Given the description of an element on the screen output the (x, y) to click on. 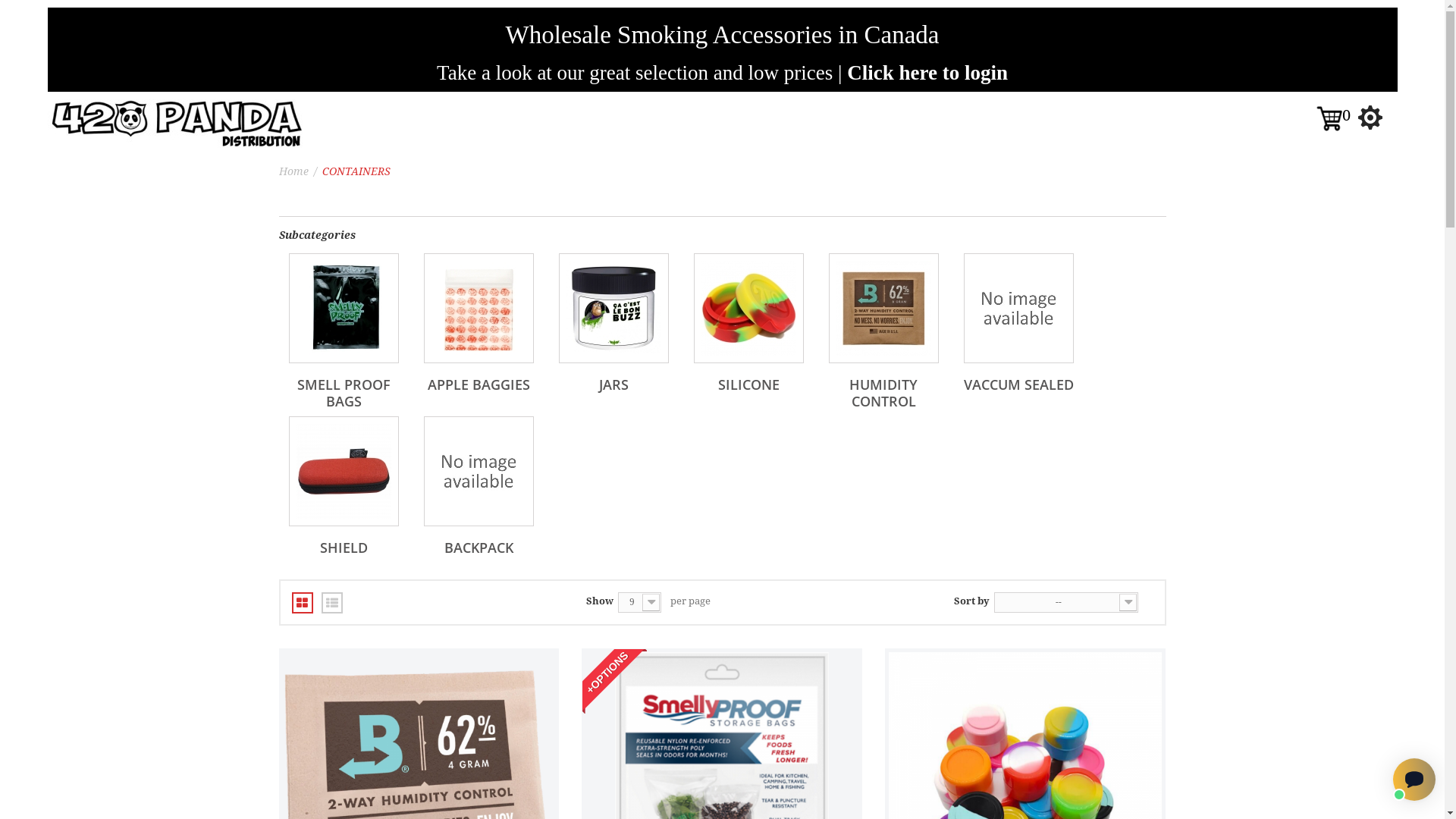
0 Element type: text (1337, 116)
HUMIDITY CONTROL Element type: hover (883, 308)
420 Panda distribution Element type: hover (174, 120)
+OPTIONS Element type: text (614, 681)
APPLE BAGGIES Element type: text (478, 384)
Wholesale Smoking Accessories in Canada Element type: text (722, 34)
Menu Element type: hover (1369, 118)
Home Element type: text (293, 171)
Grid Element type: text (301, 602)
APPLE BAGGIES Element type: hover (478, 308)
Smartsupp widget button Element type: hover (1414, 779)
SHIELD Element type: text (343, 547)
VACCUM SEALED Element type: hover (1018, 308)
SHIELD Element type: hover (343, 471)
SILICONE Element type: hover (748, 308)
JARS Element type: hover (613, 308)
JARS Element type: text (613, 384)
SMELL PROOF BAGS Element type: text (343, 392)
List Element type: text (331, 602)
BACKPACK Element type: hover (478, 471)
SMELL PROOF BAGS Element type: hover (343, 308)
HUMIDITY CONTROL Element type: text (883, 392)
BACKPACK Element type: text (478, 547)
SILICONE Element type: text (747, 384)
VACCUM SEALED Element type: text (1018, 384)
